Given the description of an element on the screen output the (x, y) to click on. 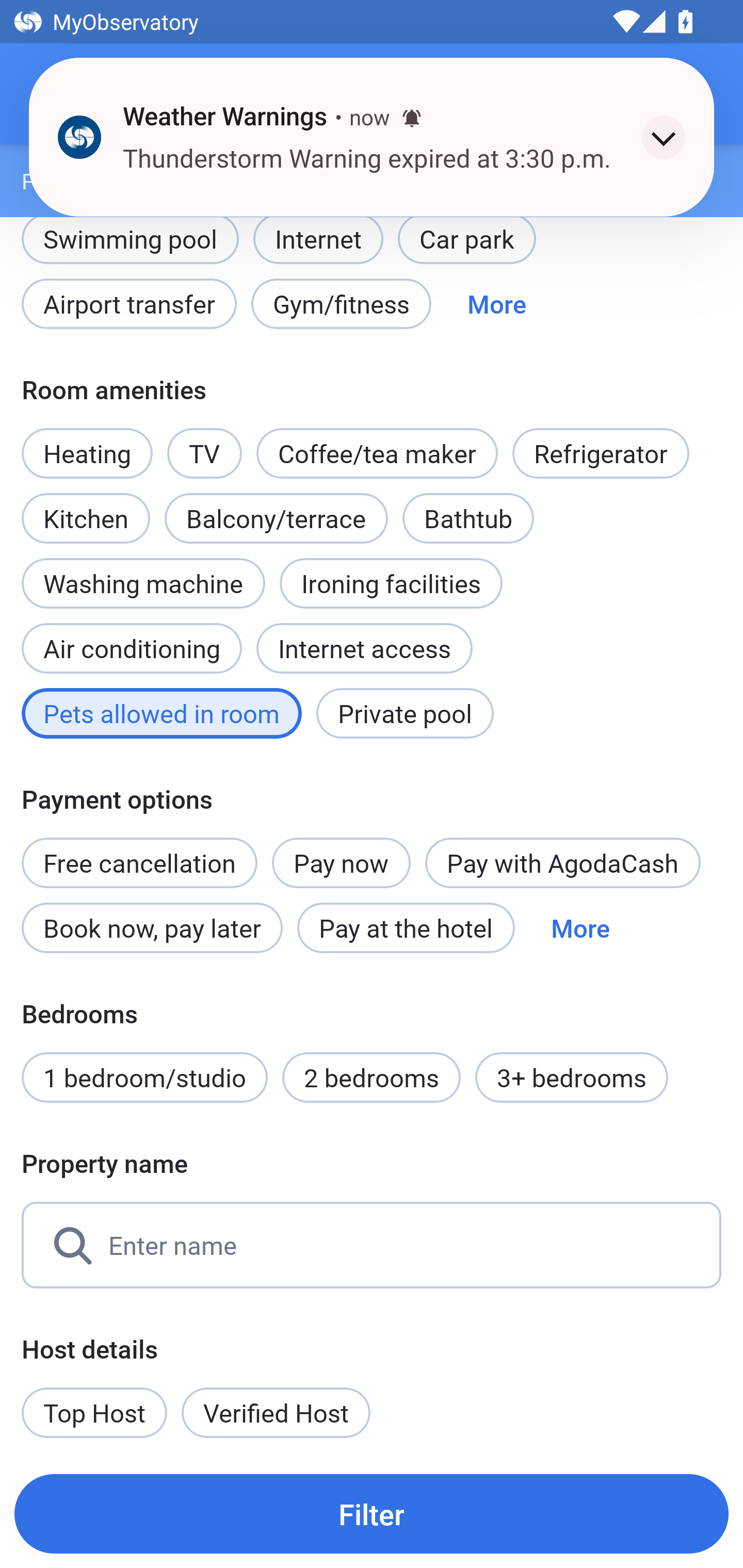
Clear (676, 93)
Swimming pool (130, 249)
Internet (318, 238)
Car park (466, 249)
Airport transfer (129, 303)
Gym/fitness (341, 303)
More (496, 303)
Heating (87, 453)
TV (204, 453)
Coffee/tea maker (376, 453)
Refrigerator (600, 453)
Kitchen (85, 507)
Balcony/terrace (275, 518)
Bathtub (468, 518)
Washing machine (143, 583)
Ironing facilities (390, 583)
Air conditioning (131, 637)
Internet access (364, 648)
Private pool (405, 713)
Free cancellation (139, 852)
Pay now (340, 863)
Pay with AgodaCash (562, 863)
Book now, pay later (152, 927)
Pay at the hotel (405, 927)
More (580, 927)
1 bedroom/studio (144, 1077)
2 bedrooms (371, 1077)
3+ bedrooms (571, 1077)
Enter name (371, 1244)
Top Host (94, 1412)
Verified Host (275, 1412)
Filter (371, 1513)
